Given the description of an element on the screen output the (x, y) to click on. 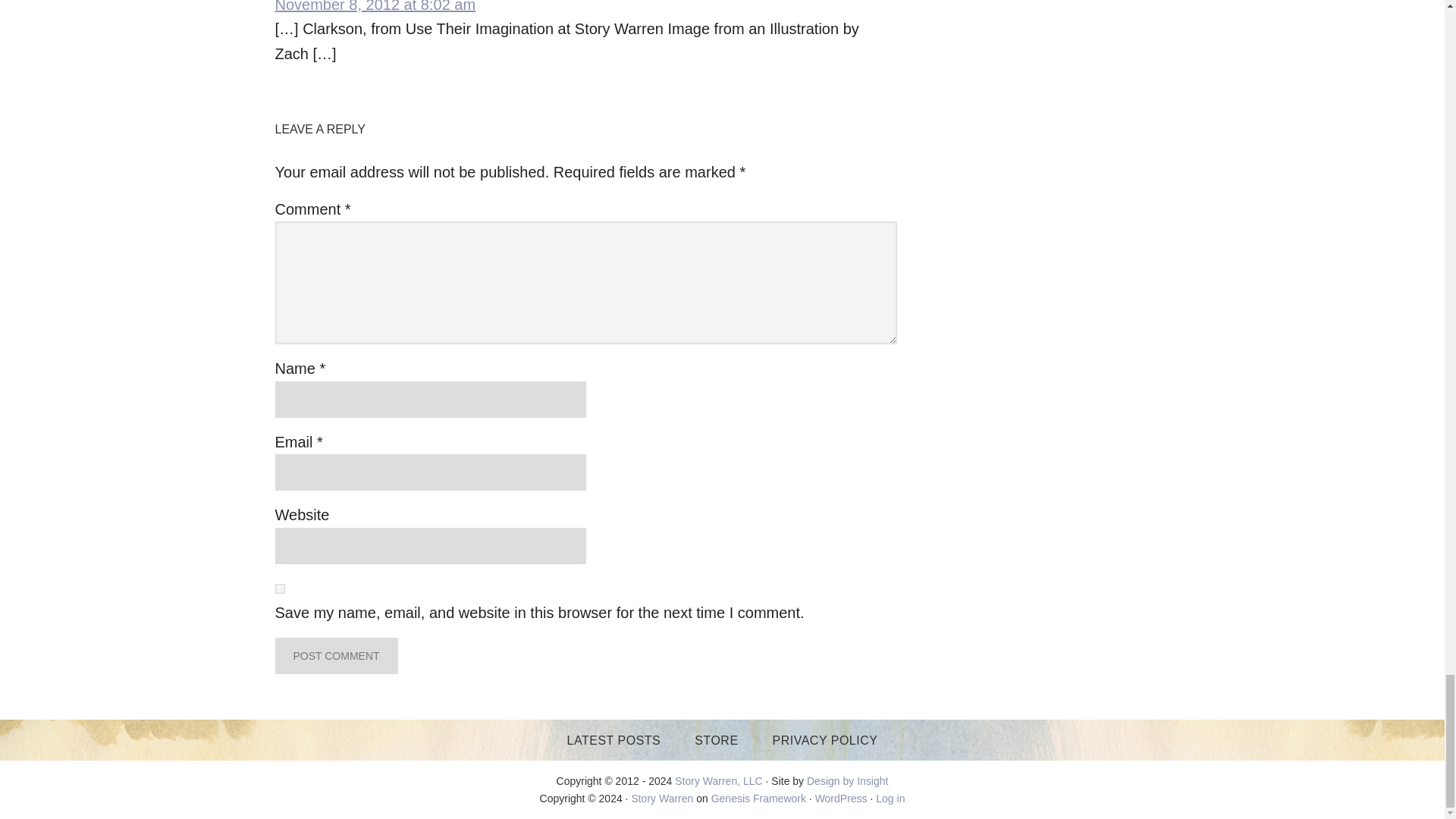
yes (279, 588)
Post Comment (336, 656)
